Given the description of an element on the screen output the (x, y) to click on. 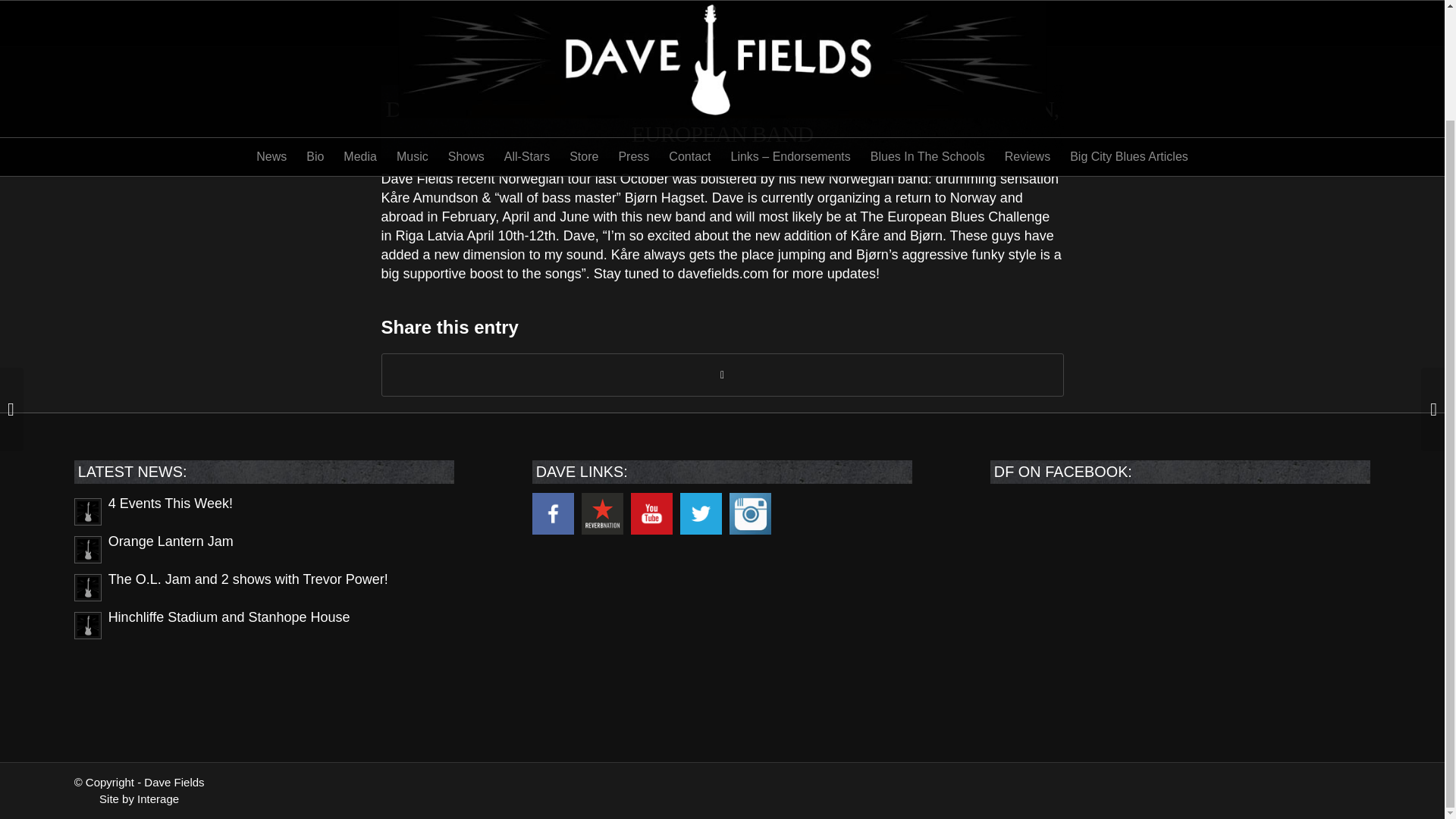
News (271, 26)
The O.L. Jam and 2 shows with Trevor Power! (264, 585)
Big City Blues Articles (1128, 26)
Orange Lantern Jam (264, 548)
Orange Lantern Jam (264, 548)
Shows (466, 26)
Press (633, 26)
4 Events This Week! (264, 510)
Interage (157, 798)
Hinchliffe Stadium and Stanhope House (264, 624)
Media (360, 26)
All-Stars (527, 26)
Contact (689, 26)
4 Events This Week! (264, 510)
Bio (315, 26)
